Given the description of an element on the screen output the (x, y) to click on. 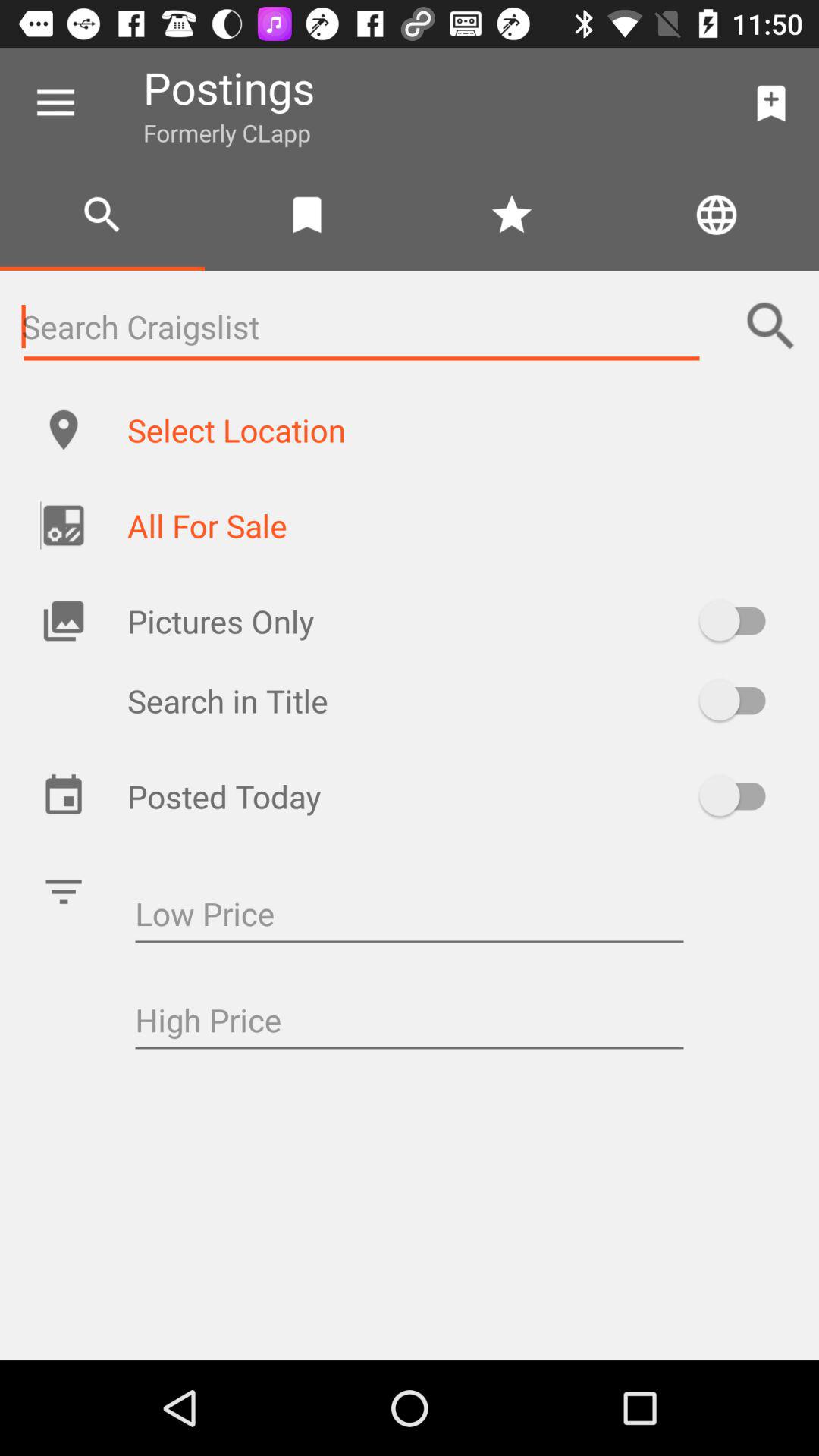
turn on the icon next to the postings icon (55, 103)
